Given the description of an element on the screen output the (x, y) to click on. 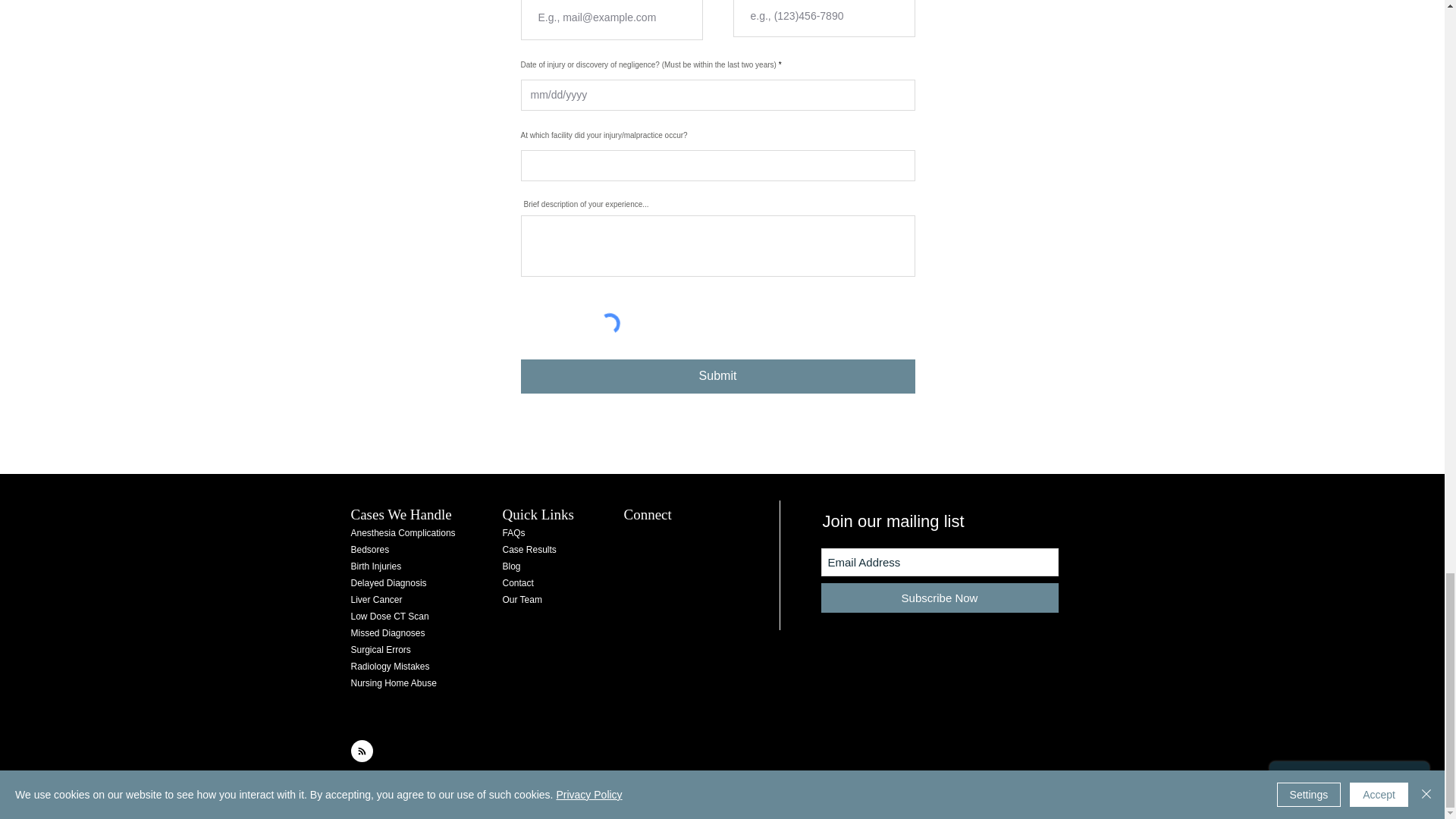
Case Results (529, 547)
Submit (716, 376)
FAQs (513, 530)
Blog (510, 564)
